Given the description of an element on the screen output the (x, y) to click on. 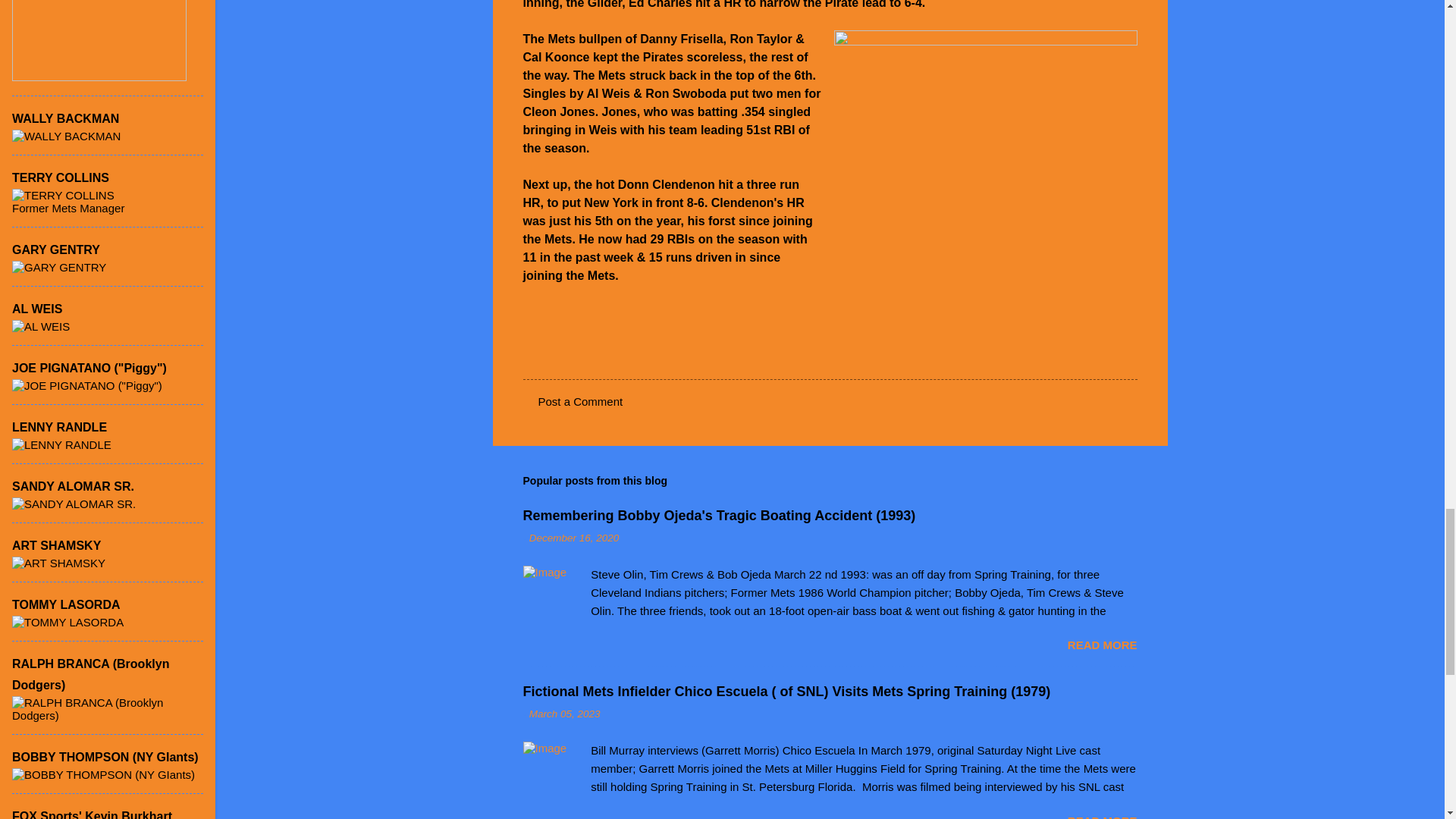
Email Post (562, 350)
permanent link (574, 537)
